Given the description of an element on the screen output the (x, y) to click on. 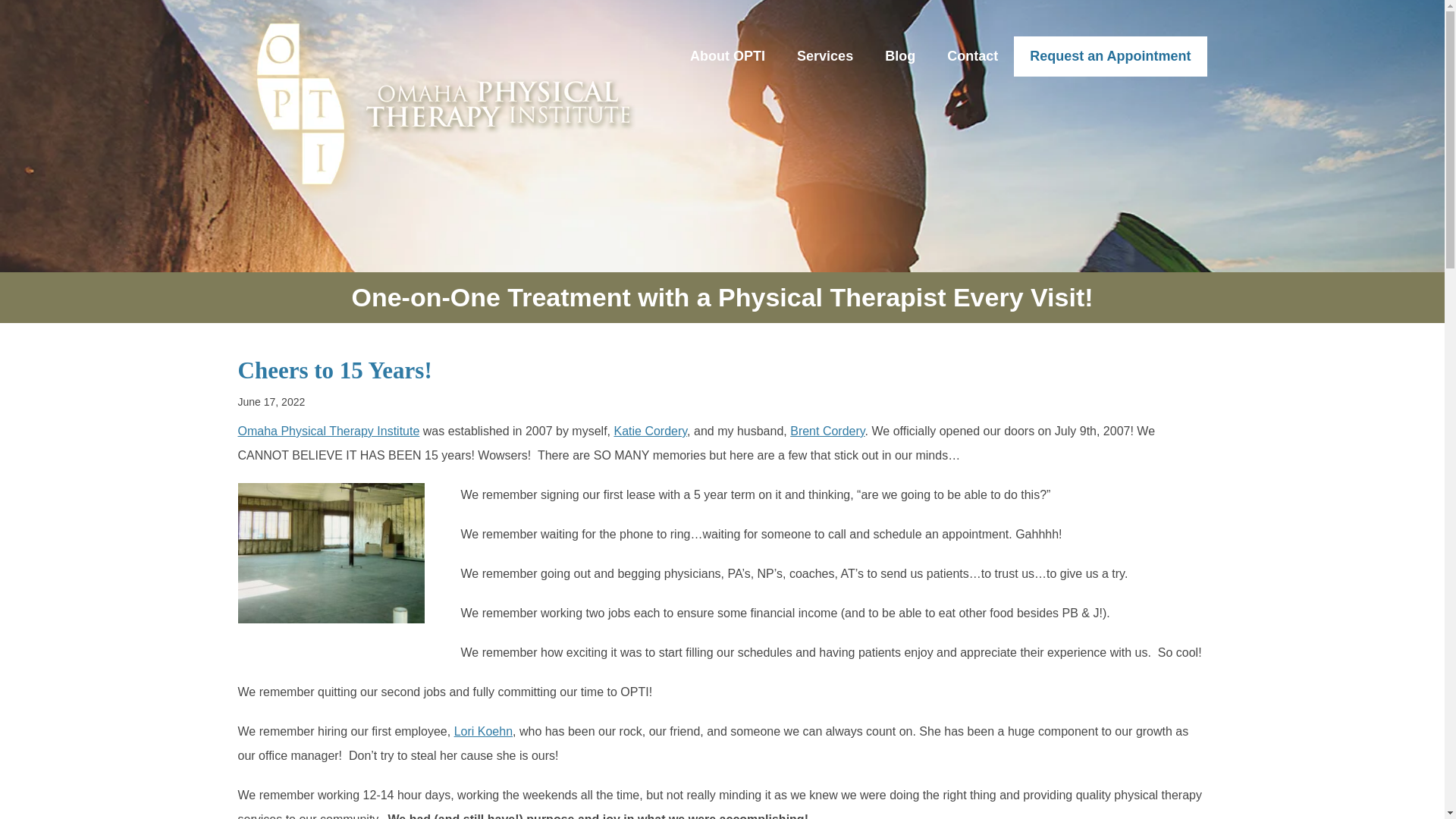
About OPTI (727, 56)
Blog (900, 56)
Services (824, 56)
